Given the description of an element on the screen output the (x, y) to click on. 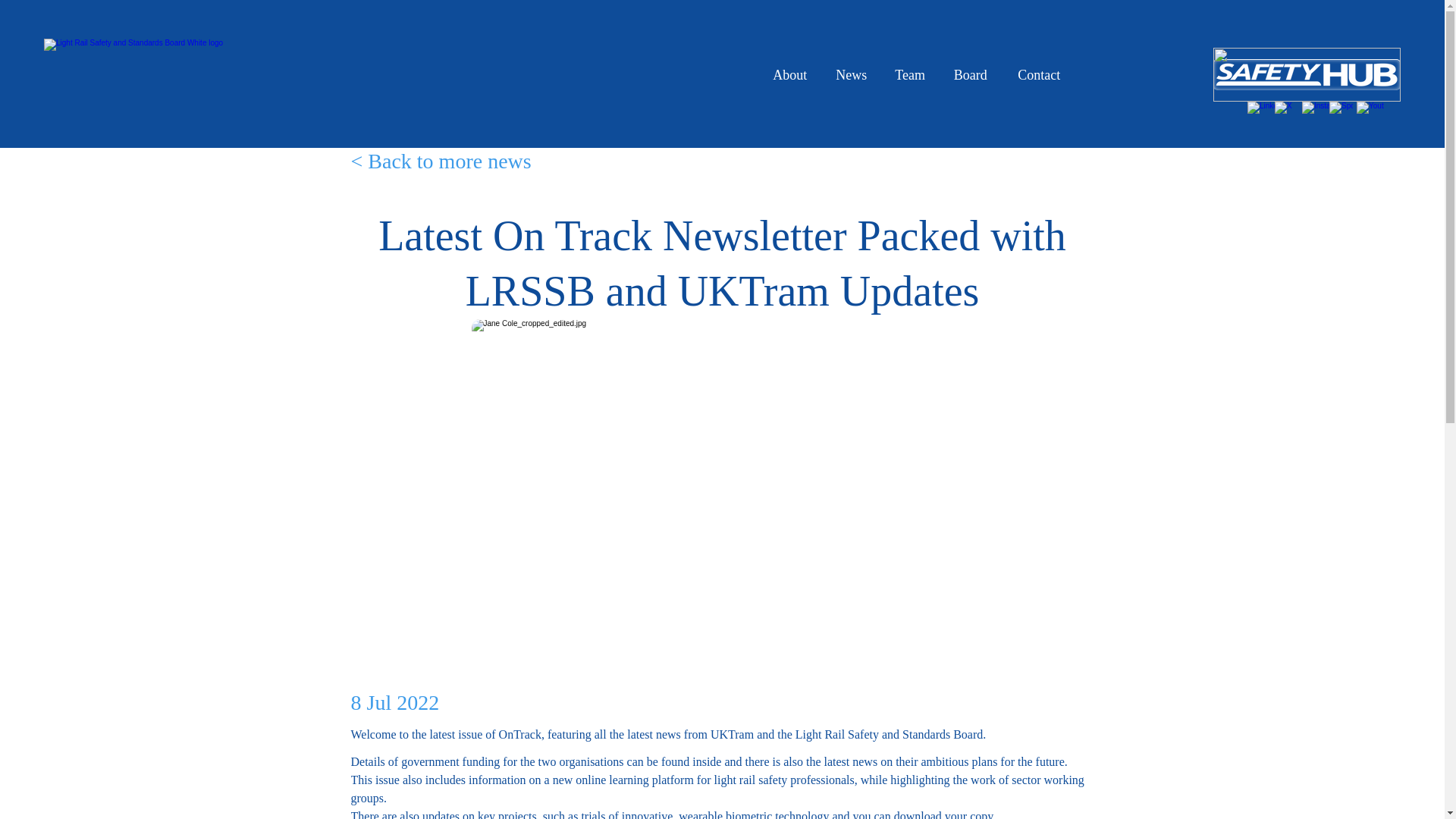
Contact (1039, 75)
News (851, 75)
Team (909, 75)
Board (970, 75)
About (790, 75)
Safety Hub (1306, 74)
